Given the description of an element on the screen output the (x, y) to click on. 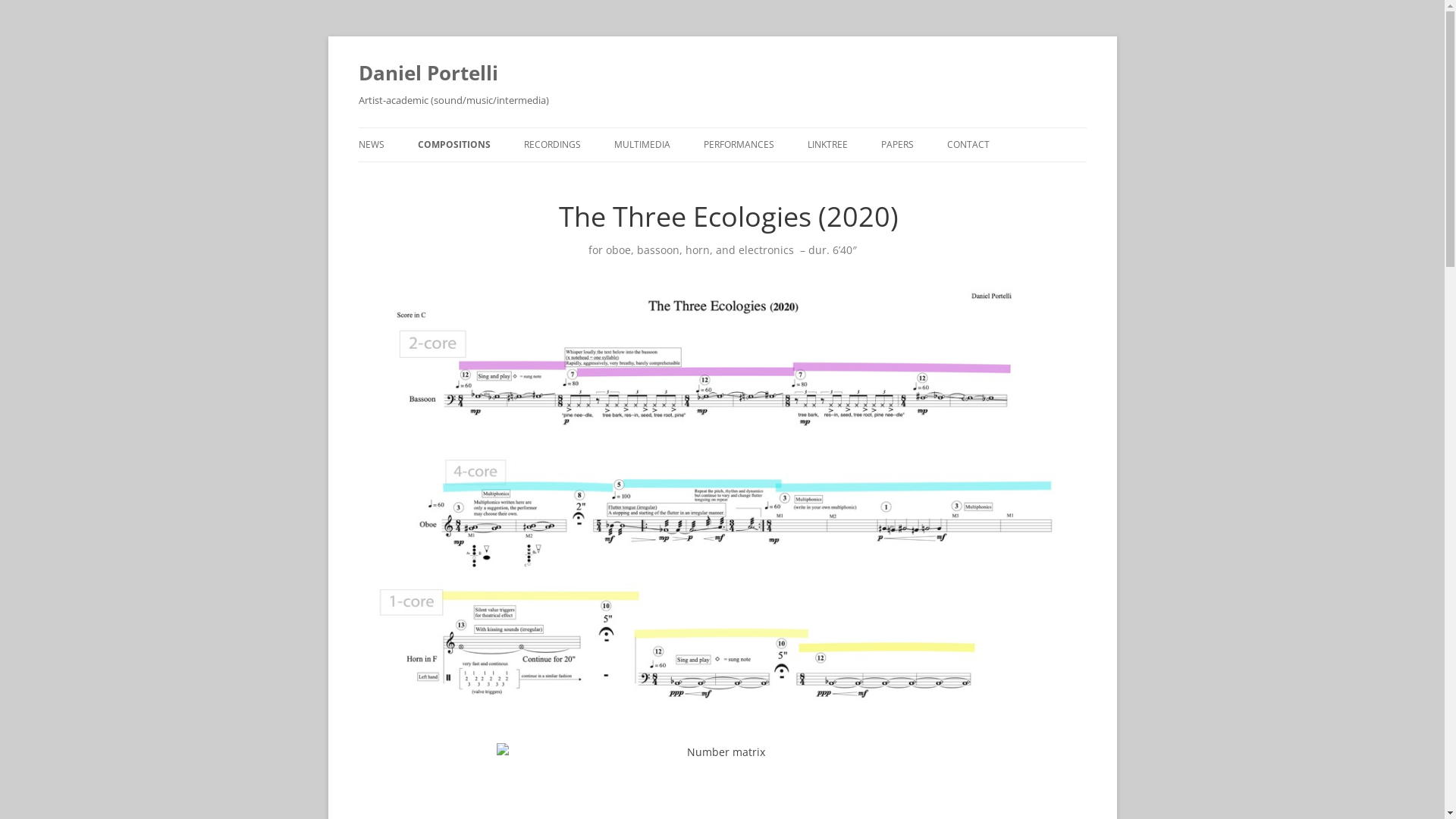
CONTACT Element type: text (967, 144)
LINKTREE Element type: text (826, 144)
Skip to content Element type: text (721, 127)
PERFORMANCES Element type: text (738, 144)
MUSIC ON BOATS Element type: text (492, 176)
NEWS Element type: text (370, 144)
Daniel Portelli Element type: text (427, 72)
RECORDINGS Element type: text (551, 144)
COMPOSITIONS Element type: text (453, 144)
PAPERS Element type: text (897, 144)
MULTIMEDIA Element type: text (642, 144)
